Given the description of an element on the screen output the (x, y) to click on. 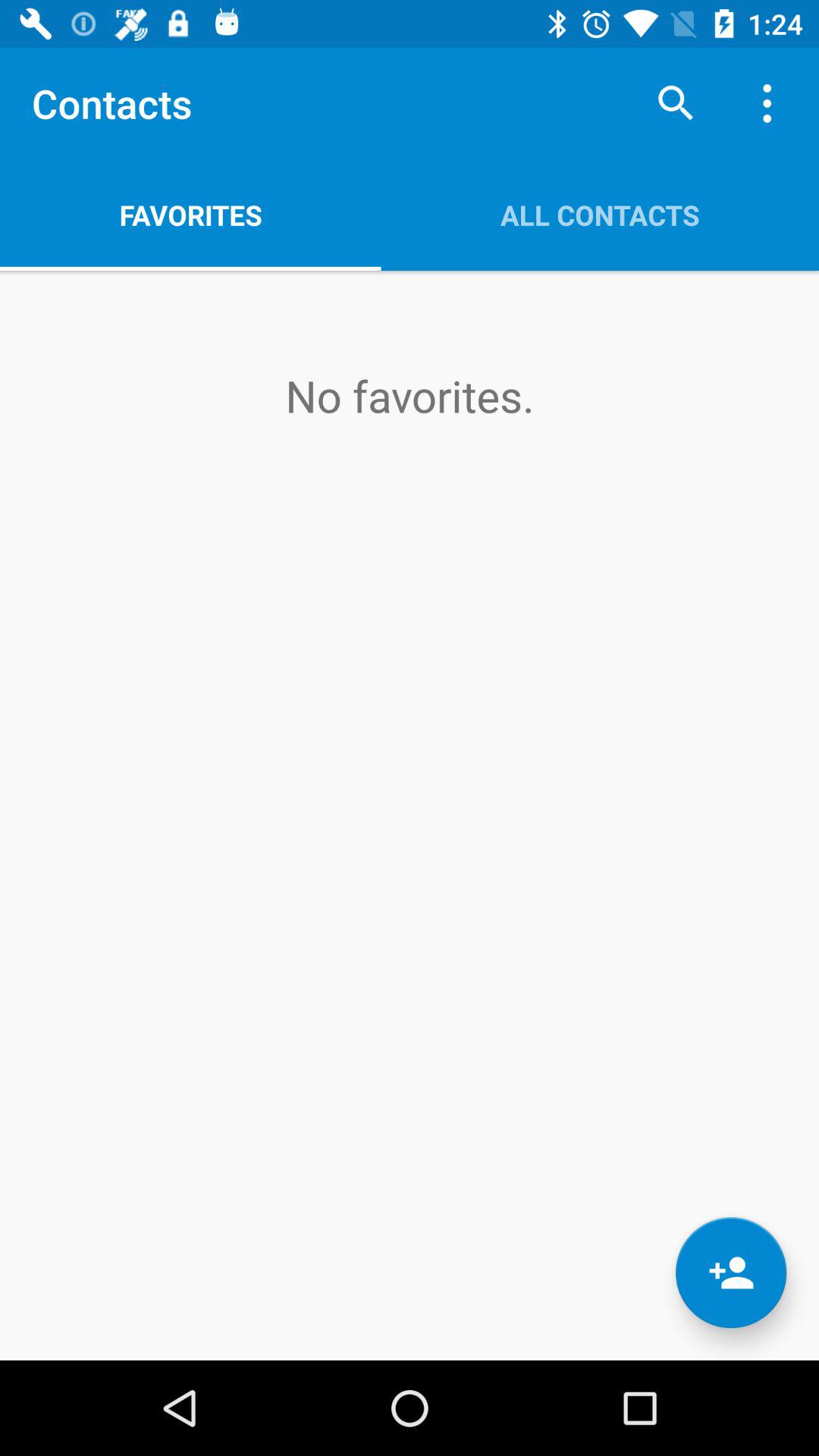
turn off the icon to the right of favorites (600, 214)
